Given the description of an element on the screen output the (x, y) to click on. 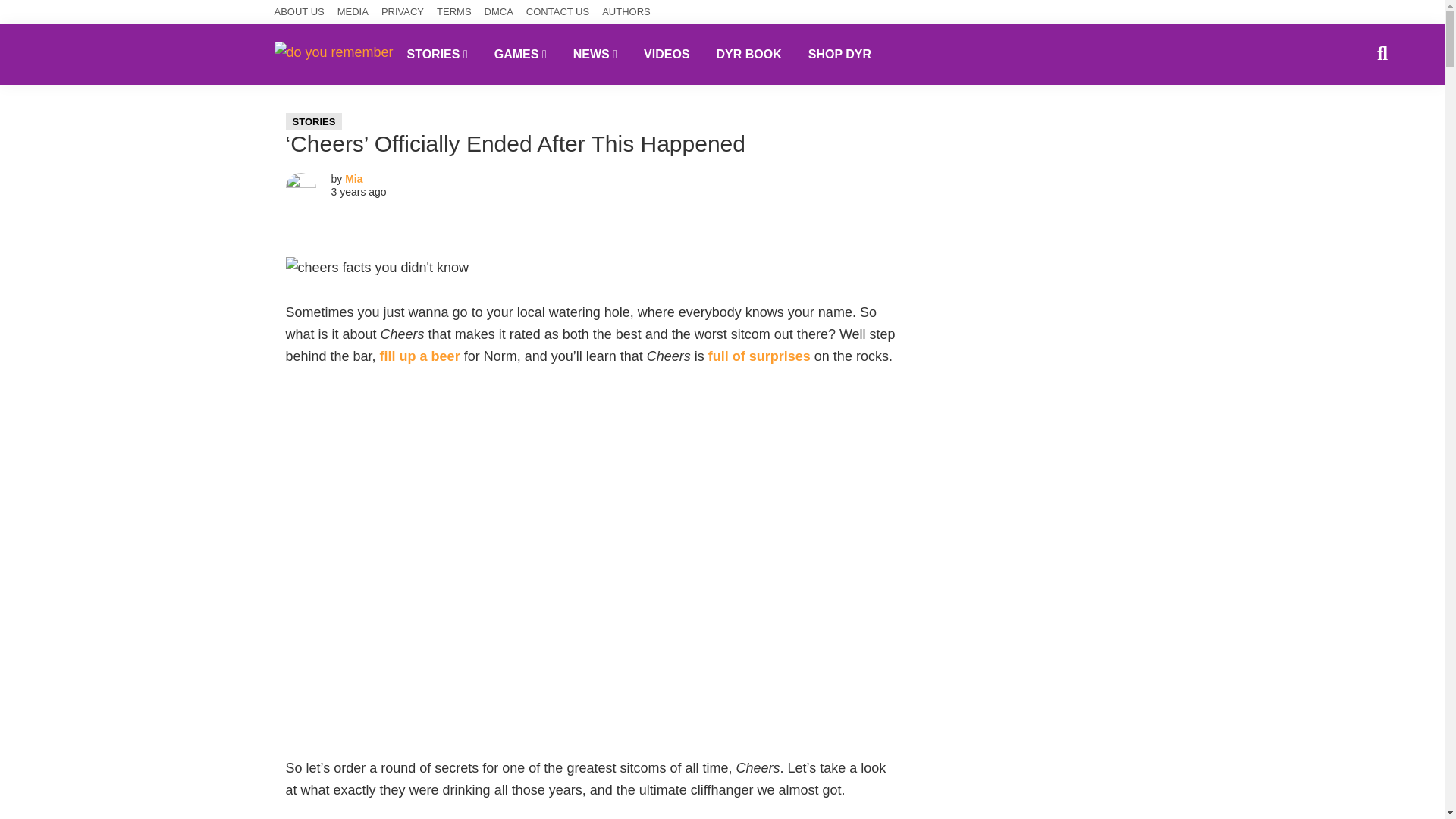
AUTHORS (626, 12)
NEWS (595, 54)
VIDEOS (665, 54)
SHOP DYR (839, 54)
TERMS (453, 12)
Mia (353, 178)
STORIES (314, 121)
MEDIA (352, 12)
PRIVACY (402, 12)
